Given the description of an element on the screen output the (x, y) to click on. 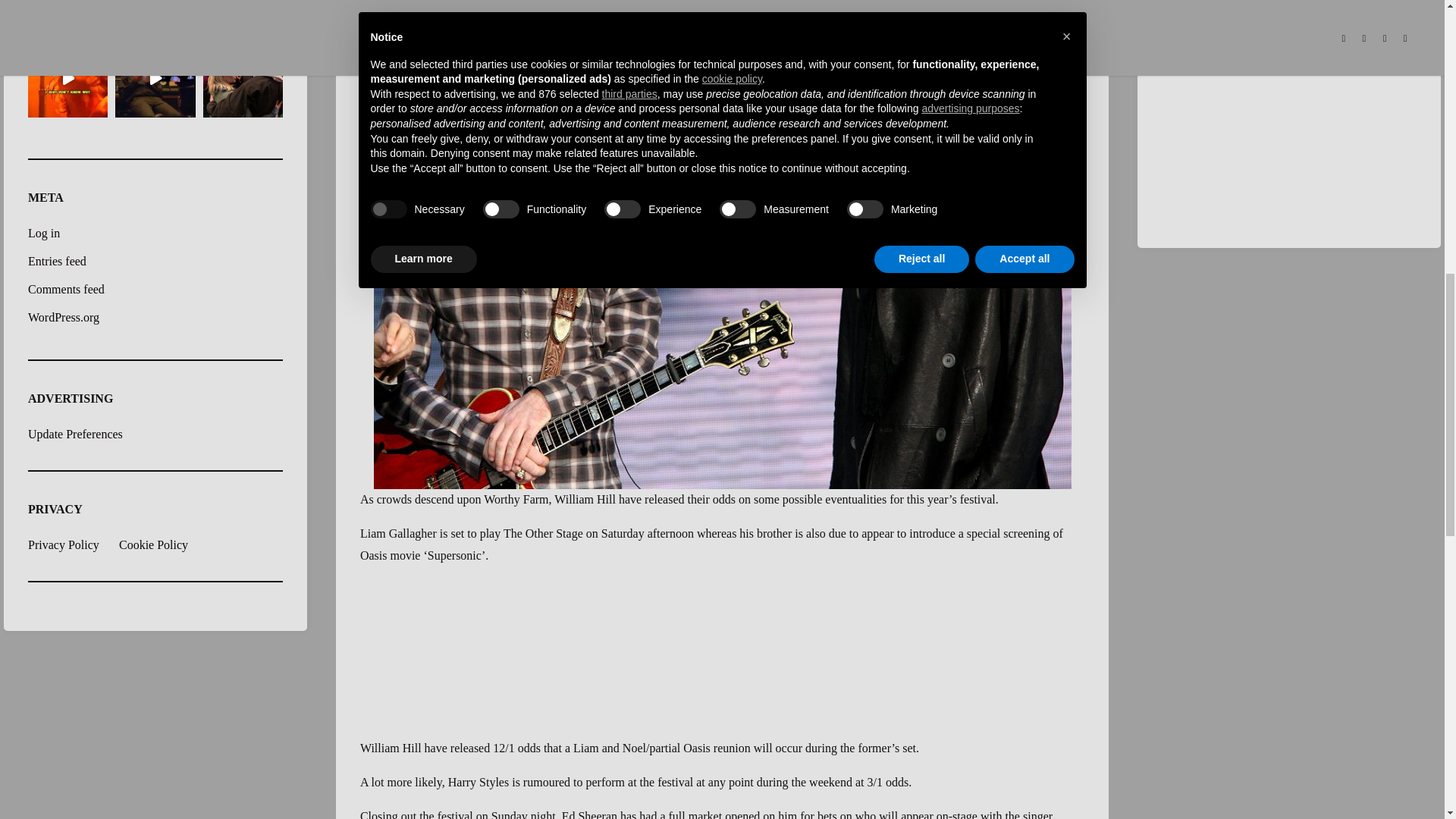
WordPress.org (63, 317)
Privacy Policy (71, 543)
Update Preferences (74, 433)
Entries feed (56, 260)
Cookie Policy (162, 543)
Comments feed (65, 288)
Log in (43, 232)
